Given the description of an element on the screen output the (x, y) to click on. 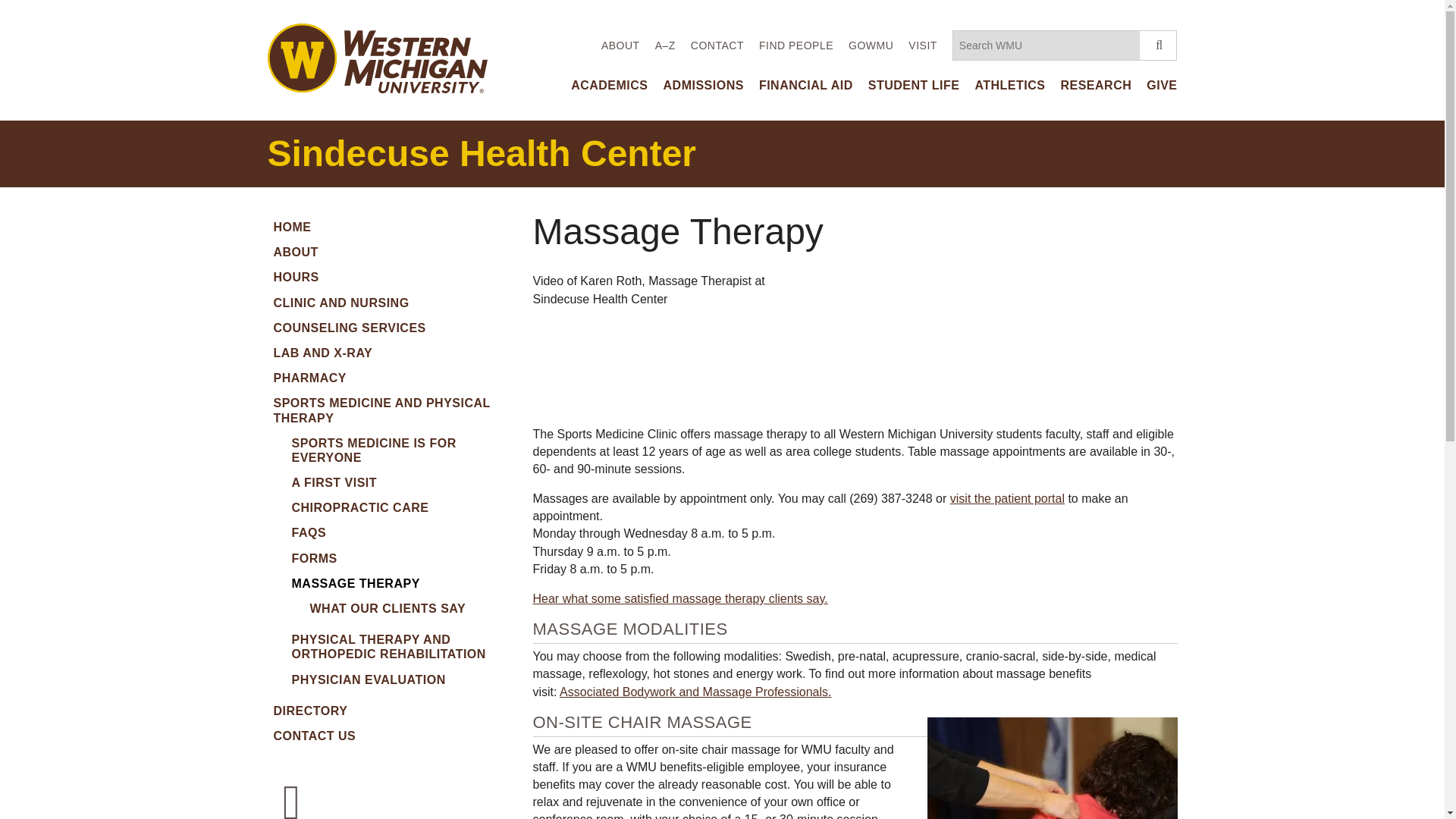
ABOUT (620, 45)
GOWMU (870, 45)
SEARCH (1158, 45)
ATHLETICS (1009, 85)
ADMISSIONS (703, 85)
GIVE (1161, 85)
CONTACT (717, 45)
Back to Western Michigan University home page (376, 56)
ACADEMICS (608, 85)
FIND PEOPLE (795, 45)
RESEARCH (1095, 85)
STUDENT LIFE (913, 85)
FINANCIAL AID (805, 85)
VISIT (922, 45)
